Given the description of an element on the screen output the (x, y) to click on. 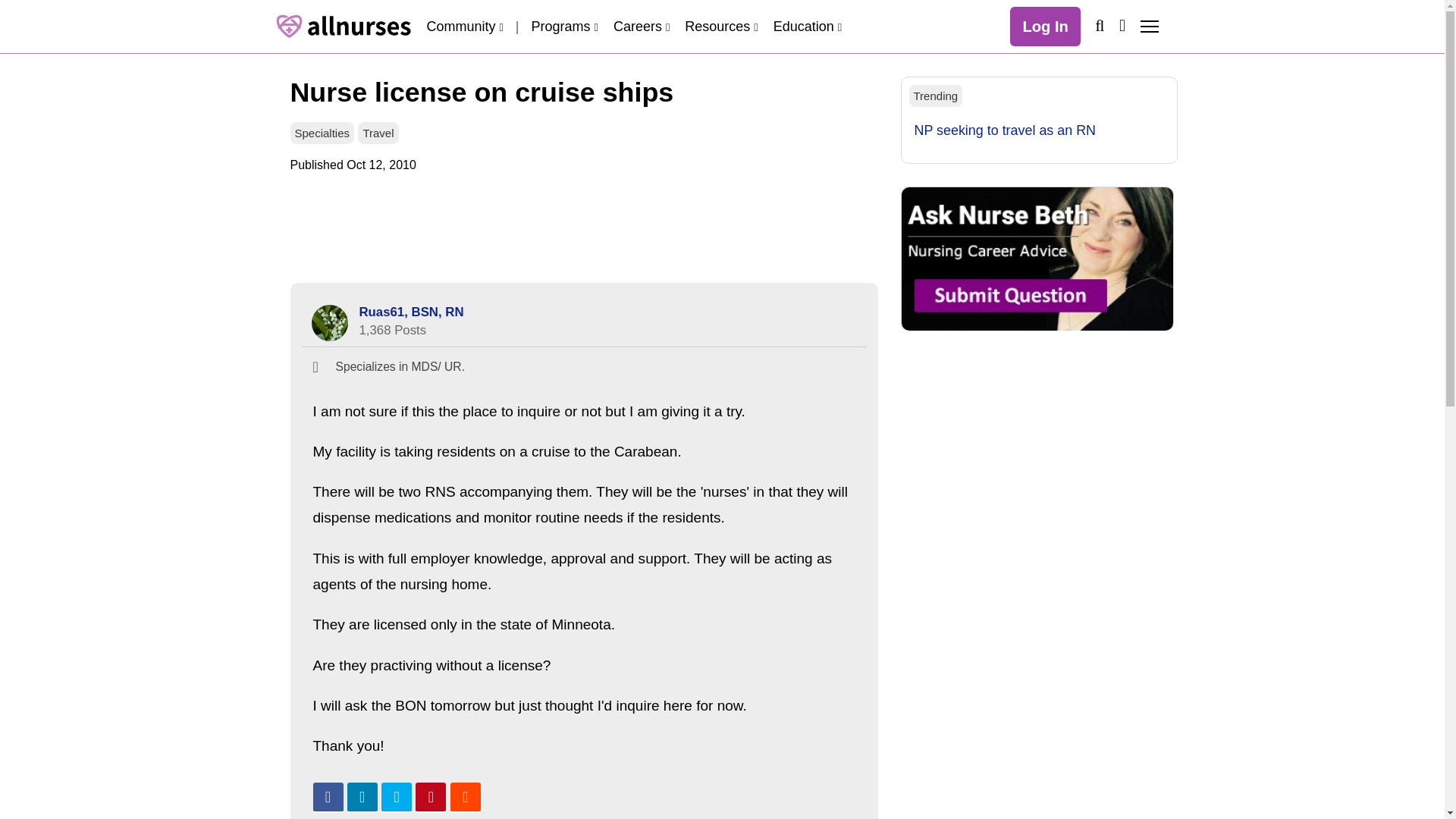
View the topic NP seeking to travel as an RN (1005, 130)
Programs (564, 26)
Up-to-date information on nursing programs in the U.S. (564, 26)
Community (465, 26)
Share on Facebook (327, 797)
Go to Ruas61's profile (411, 311)
Share on LinkedIn (362, 797)
Share on Twitter (396, 797)
Go to Ruas61's profile (329, 322)
Share on Pinterest (429, 797)
Share on Reddit (464, 797)
